Given the description of an element on the screen output the (x, y) to click on. 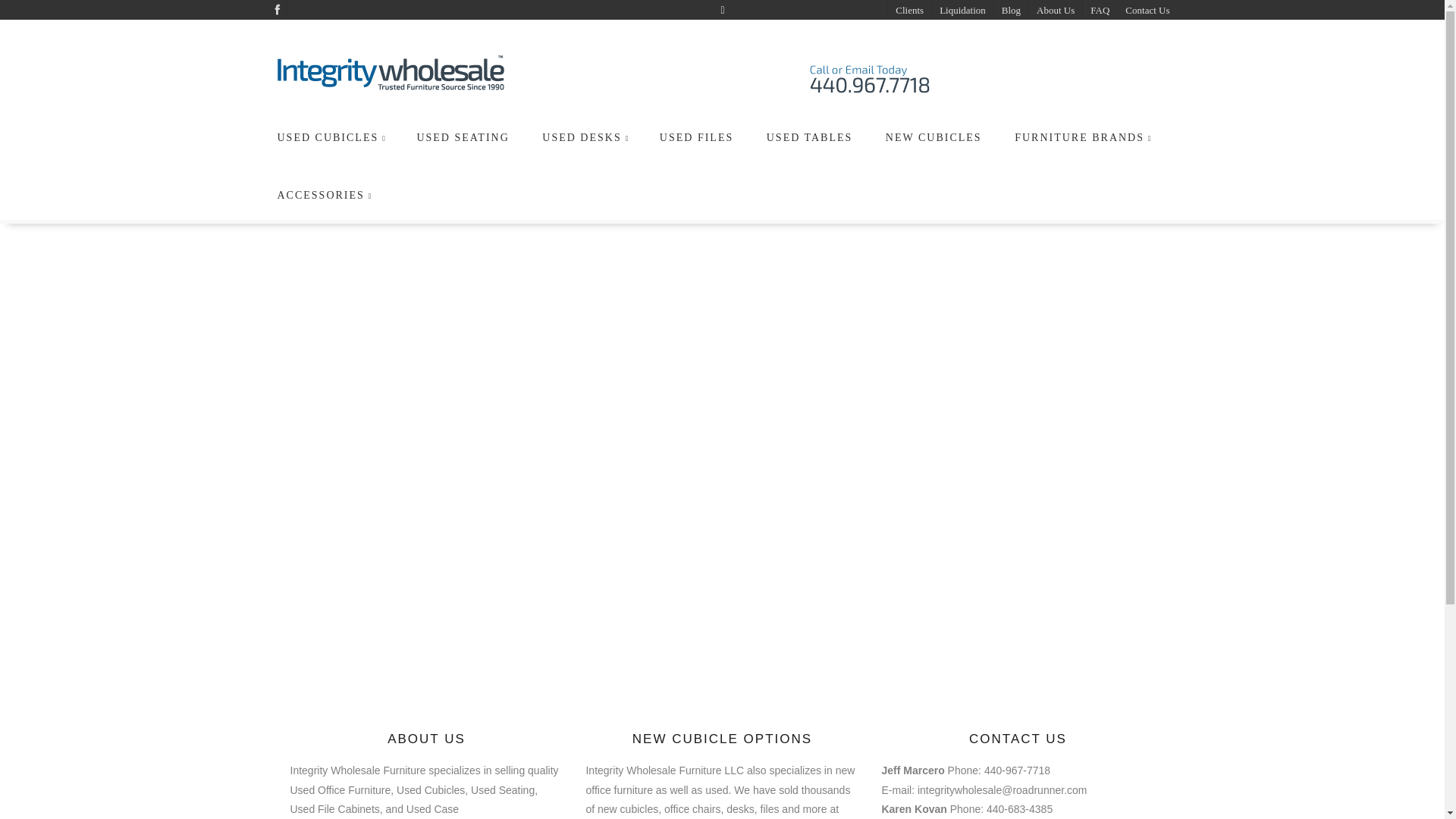
USED SEATING (464, 135)
Liquidation (961, 10)
Clients (908, 10)
ACCESSORIES (325, 194)
SKIP TO CONTENT (331, 117)
About Us (1054, 10)
Follow us on Facebook (275, 9)
Contact Us (1146, 10)
Blog (1009, 10)
NEW CUBICLES (935, 135)
